Given the description of an element on the screen output the (x, y) to click on. 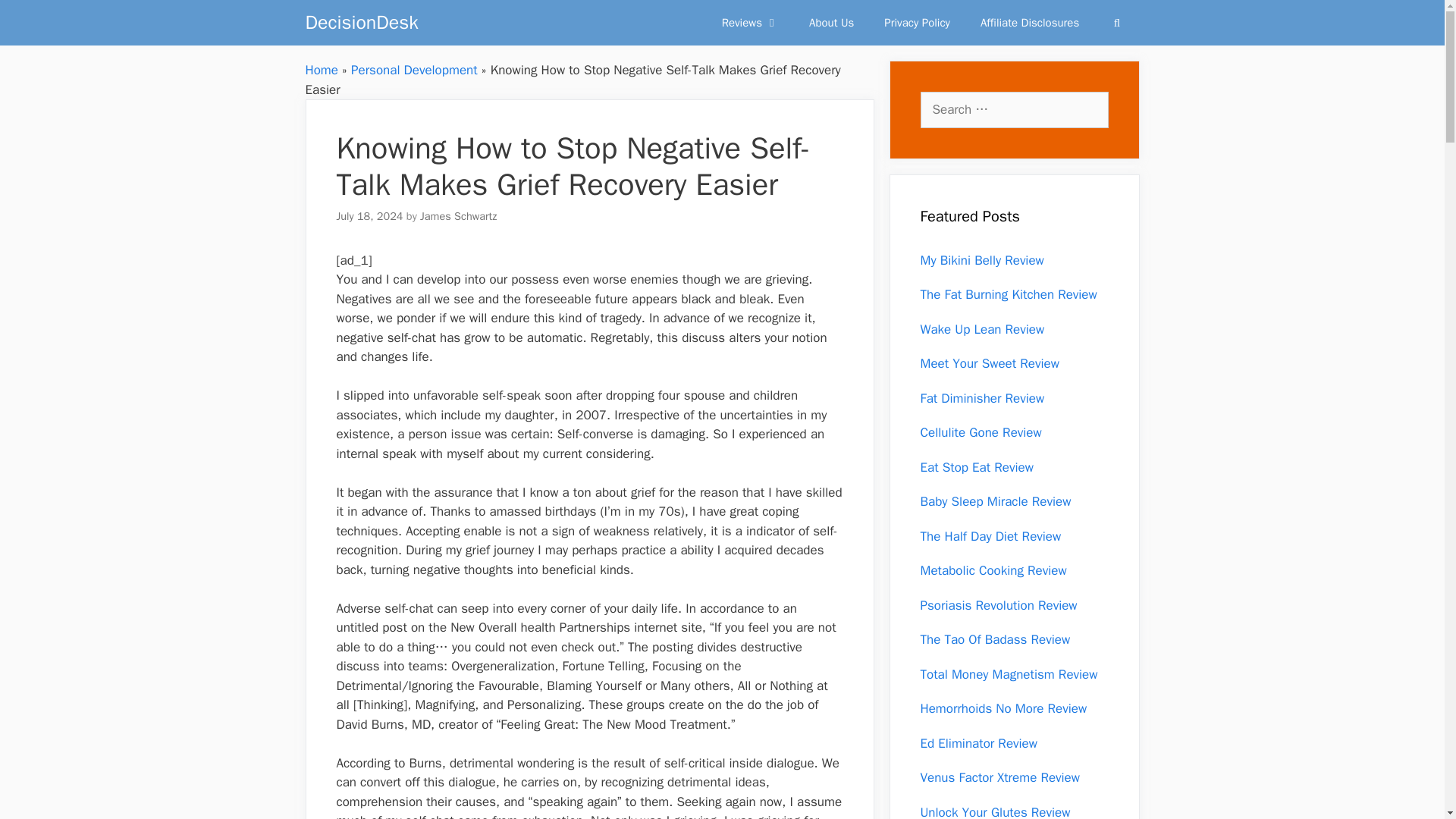
July 18, 2024 (369, 215)
James Schwartz (458, 215)
About Us (831, 22)
Home (320, 69)
Search (1116, 22)
Affiliate Disclosures (1029, 22)
DecisionDesk (360, 22)
8:01 pm (369, 215)
View all posts by James Schwartz (458, 215)
Personal Development (413, 69)
Search (1116, 22)
Privacy Policy (917, 22)
Search for: (1014, 109)
Reviews (749, 22)
